Given the description of an element on the screen output the (x, y) to click on. 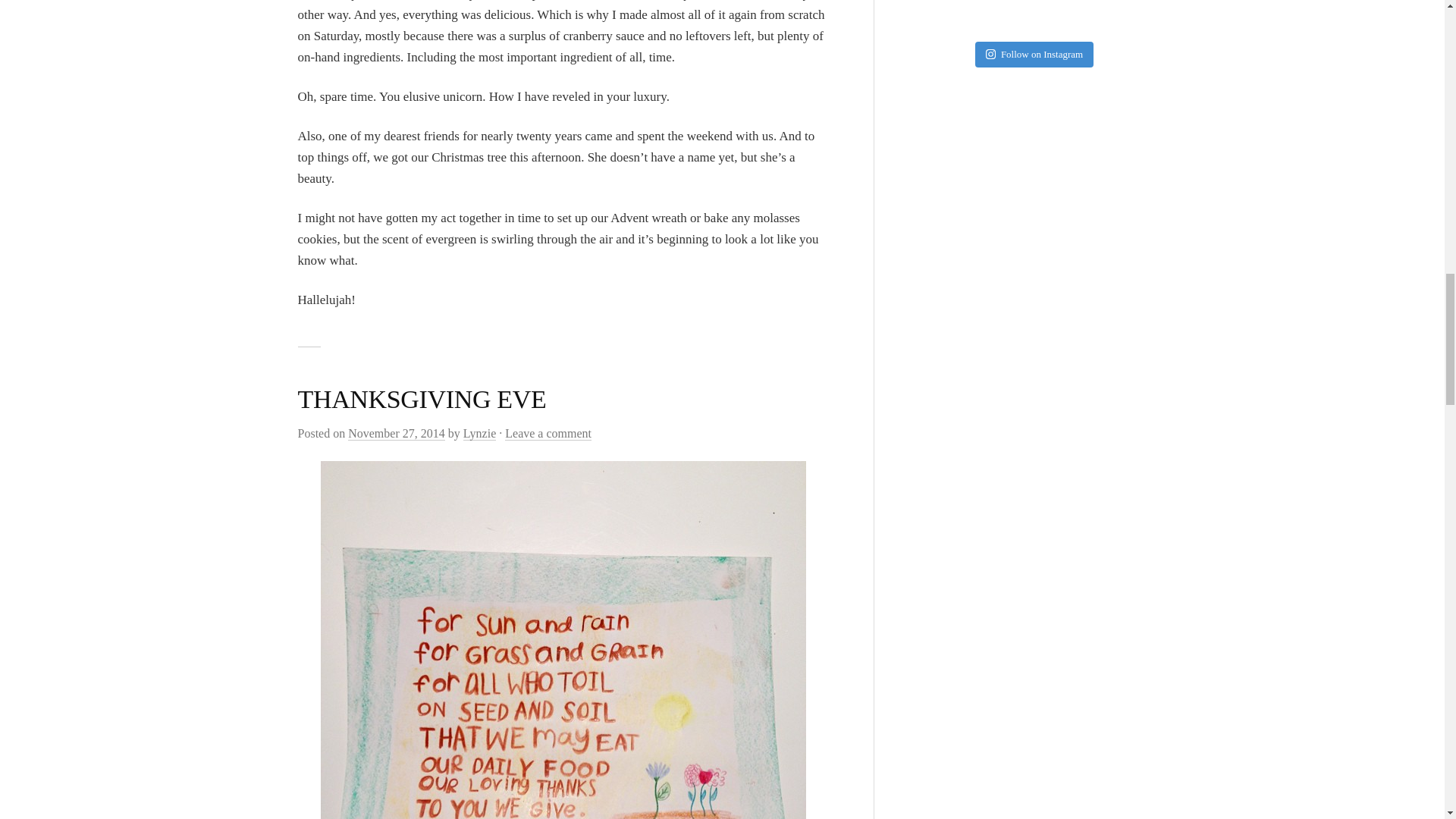
November 27, 2014 (396, 433)
Lynzie (479, 433)
THANKSGIVING EVE (421, 398)
Leave a comment (548, 433)
